Given the description of an element on the screen output the (x, y) to click on. 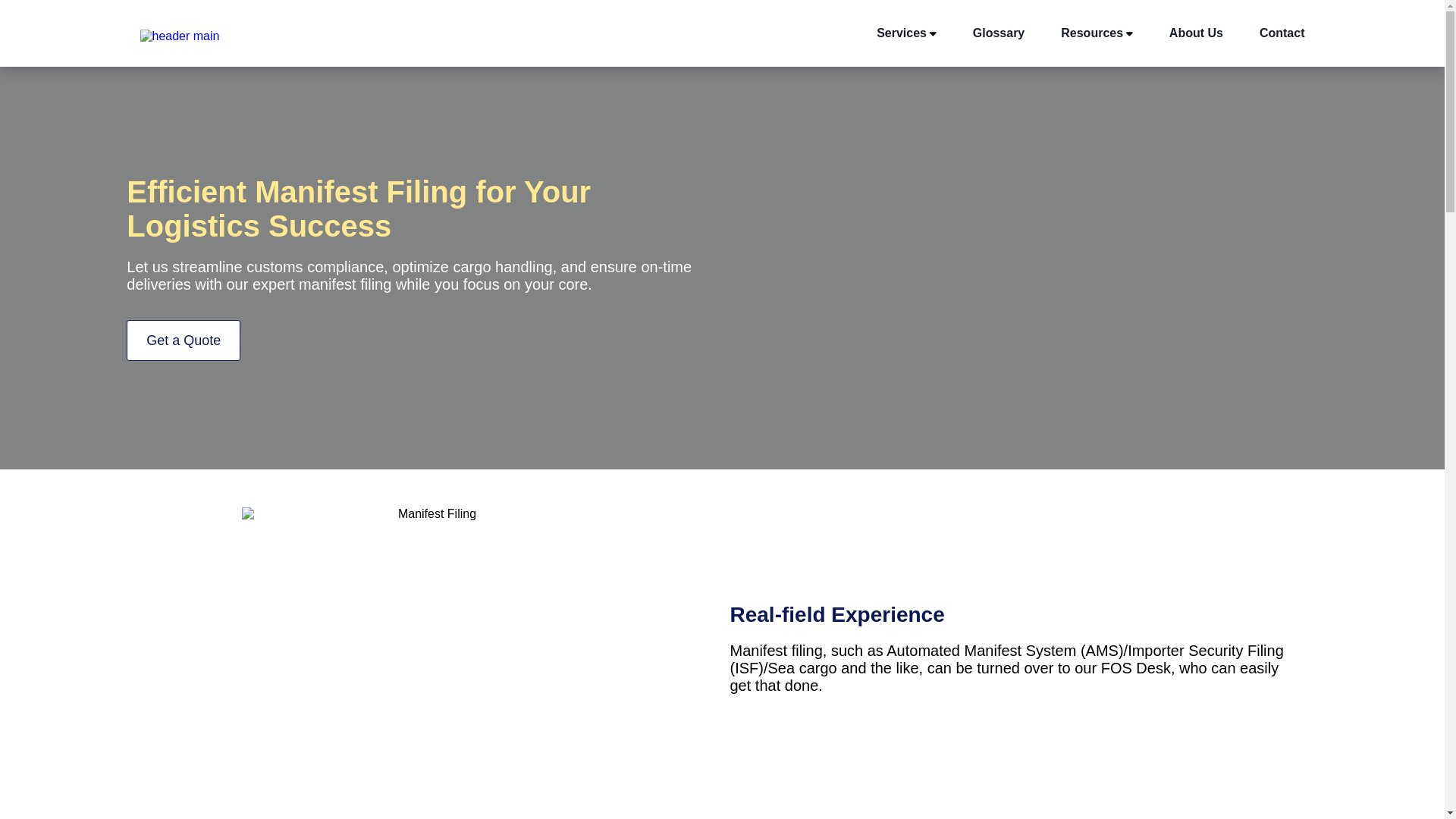
Manifest Filing (430, 655)
Get a Quote (183, 340)
header main (179, 36)
